Given the description of an element on the screen output the (x, y) to click on. 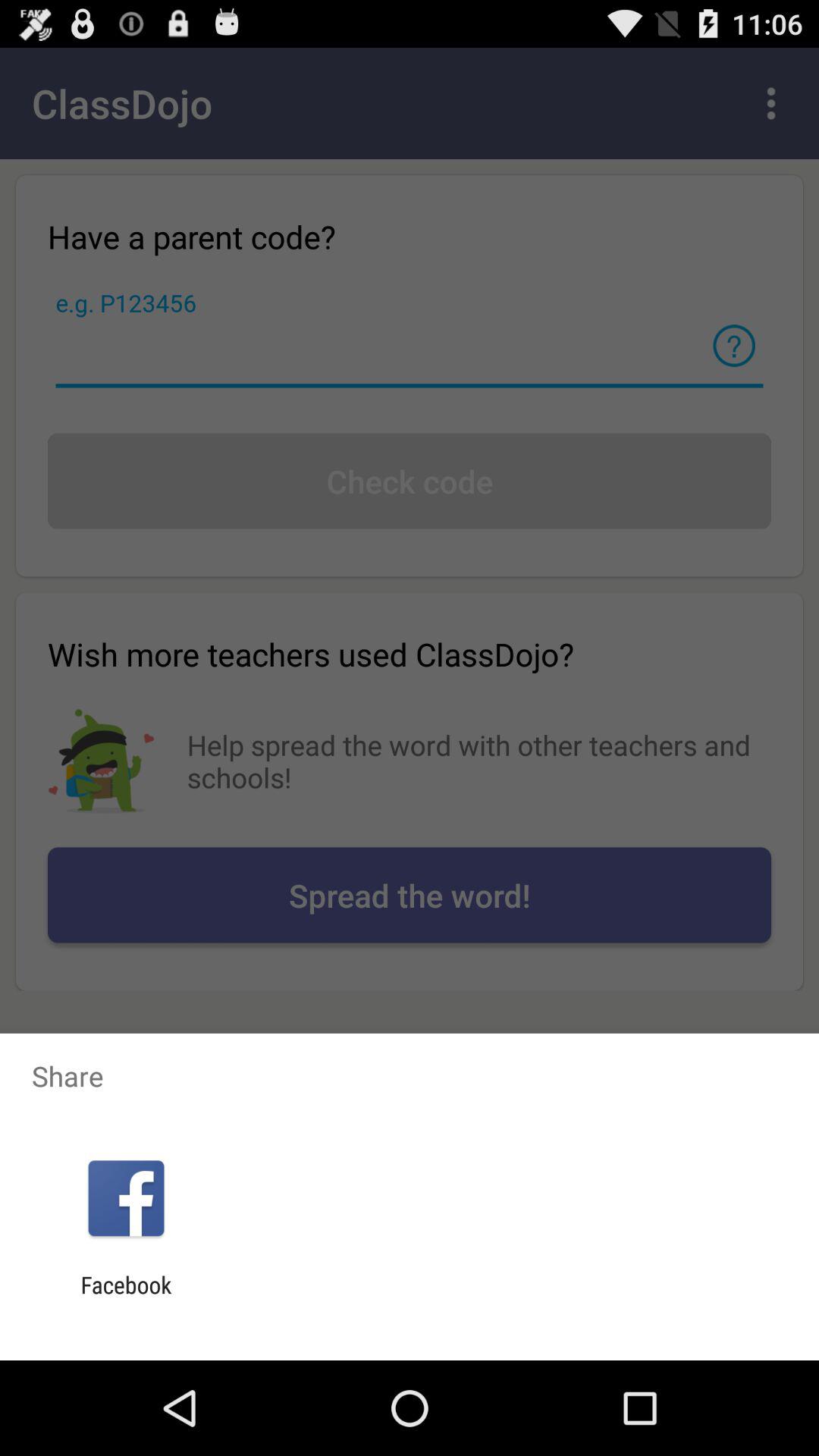
open the facebook app (125, 1298)
